Given the description of an element on the screen output the (x, y) to click on. 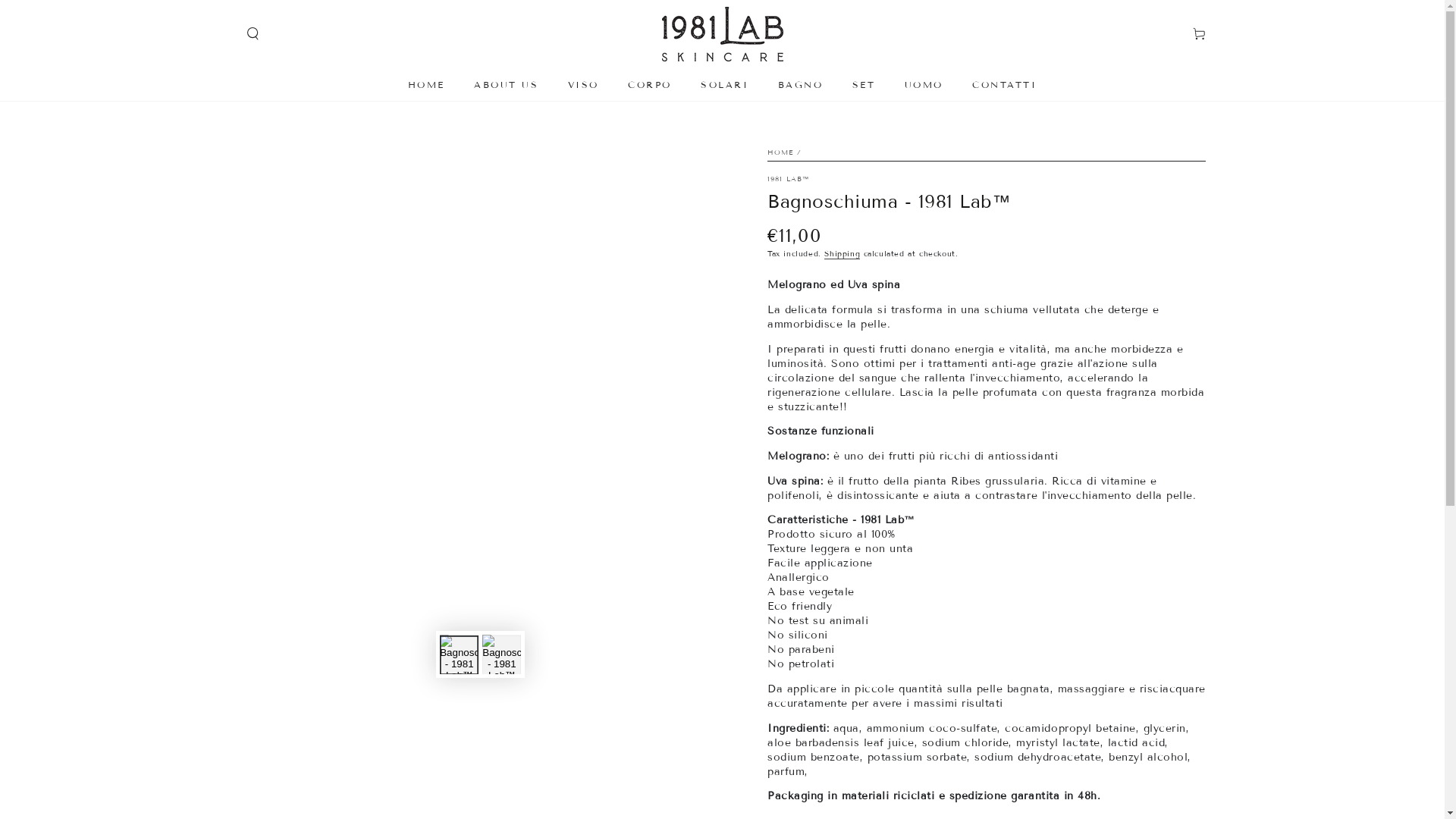
SKIP TO PRODUCT INFORMATION Element type: text (315, 143)
HOME Element type: text (780, 151)
HOME Element type: text (426, 83)
BAGNO Element type: text (800, 83)
ABOUT US Element type: text (506, 83)
Open media 1 in modal Element type: text (480, 369)
SET Element type: text (863, 83)
CORPO Element type: text (649, 83)
SOLARI Element type: text (724, 83)
UOMO Element type: text (923, 83)
Shipping Element type: text (841, 253)
CONTATTI Element type: text (1004, 83)
VISO Element type: text (583, 83)
